Given the description of an element on the screen output the (x, y) to click on. 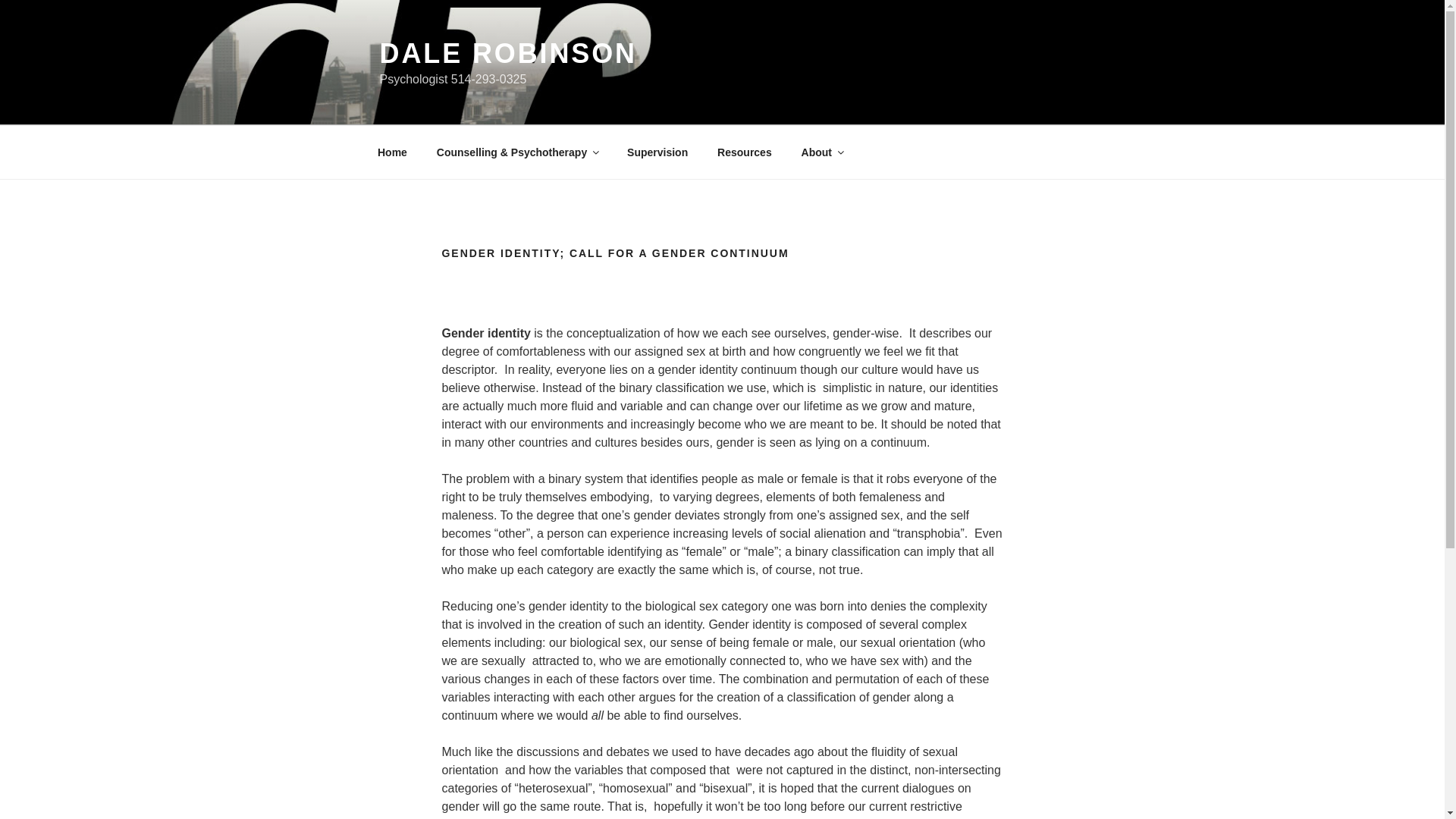
Home (392, 151)
Supervision (657, 151)
Resources (745, 151)
About (821, 151)
DALE ROBINSON (507, 52)
